Given the description of an element on the screen output the (x, y) to click on. 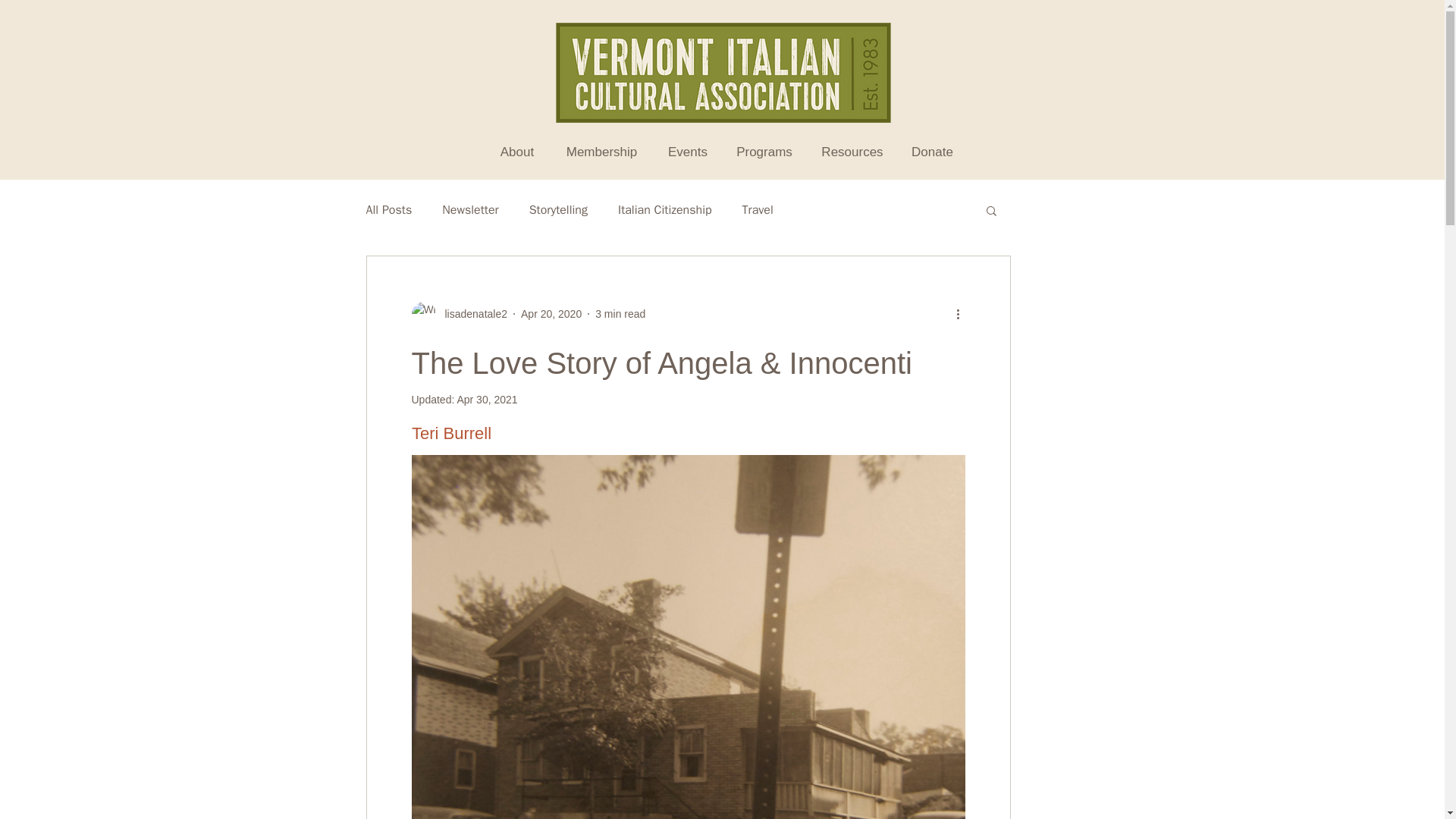
Storytelling (558, 209)
Events (687, 152)
3 min read (620, 313)
Travel (757, 209)
Membership (601, 152)
Italian Citizenship (664, 209)
Donate (932, 152)
All Posts (388, 209)
lisadenatale2 (470, 314)
lisadenatale2 (458, 313)
Apr 30, 2021 (486, 399)
Newsletter (469, 209)
Apr 20, 2020 (550, 313)
